Given the description of an element on the screen output the (x, y) to click on. 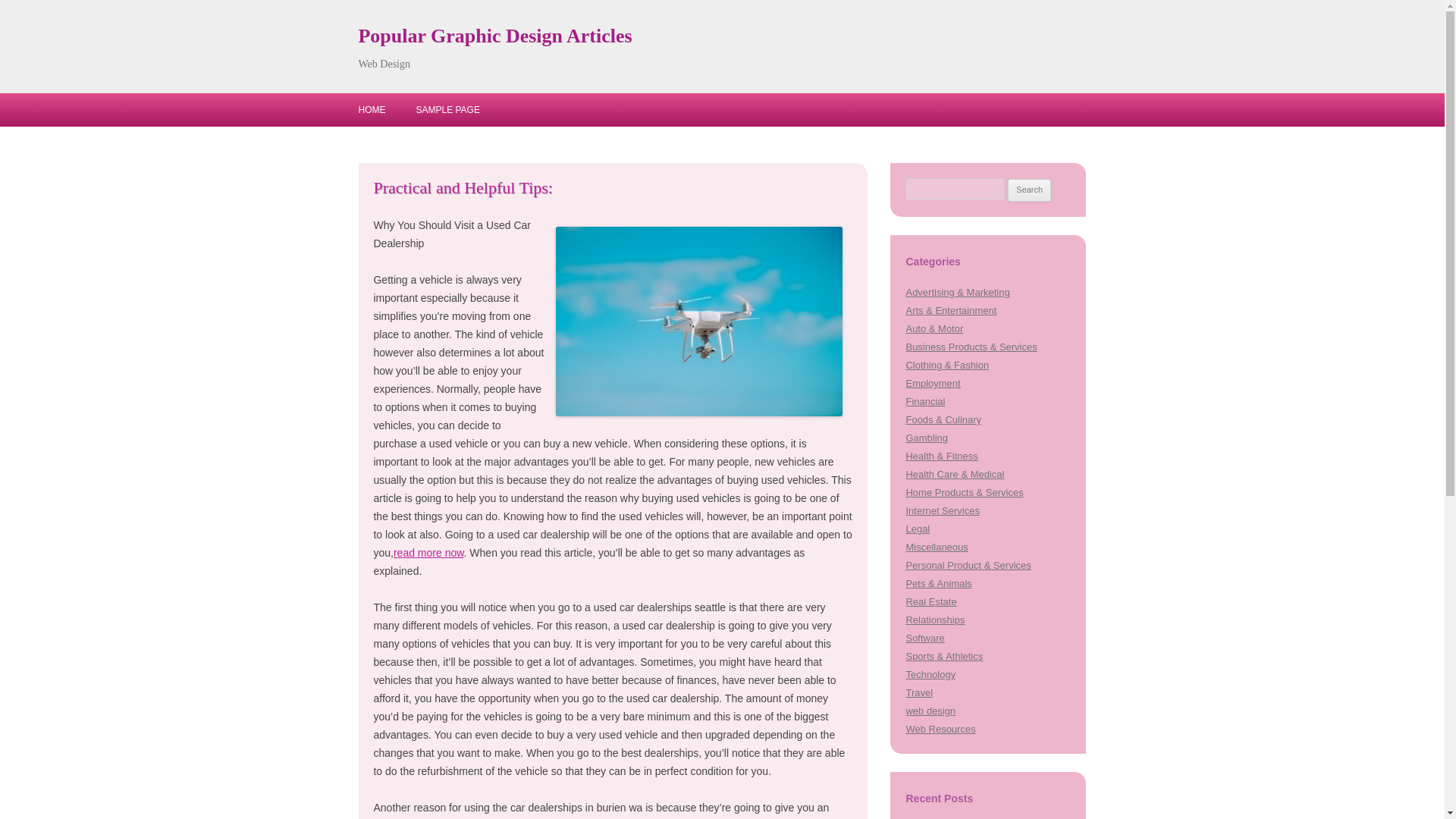
SAMPLE PAGE (446, 109)
Travel (919, 692)
Technology (930, 674)
Employment (932, 383)
read more now (428, 552)
Financial (924, 401)
Relationships (934, 619)
Software (924, 637)
Popular Graphic Design Articles (494, 36)
